Given the description of an element on the screen output the (x, y) to click on. 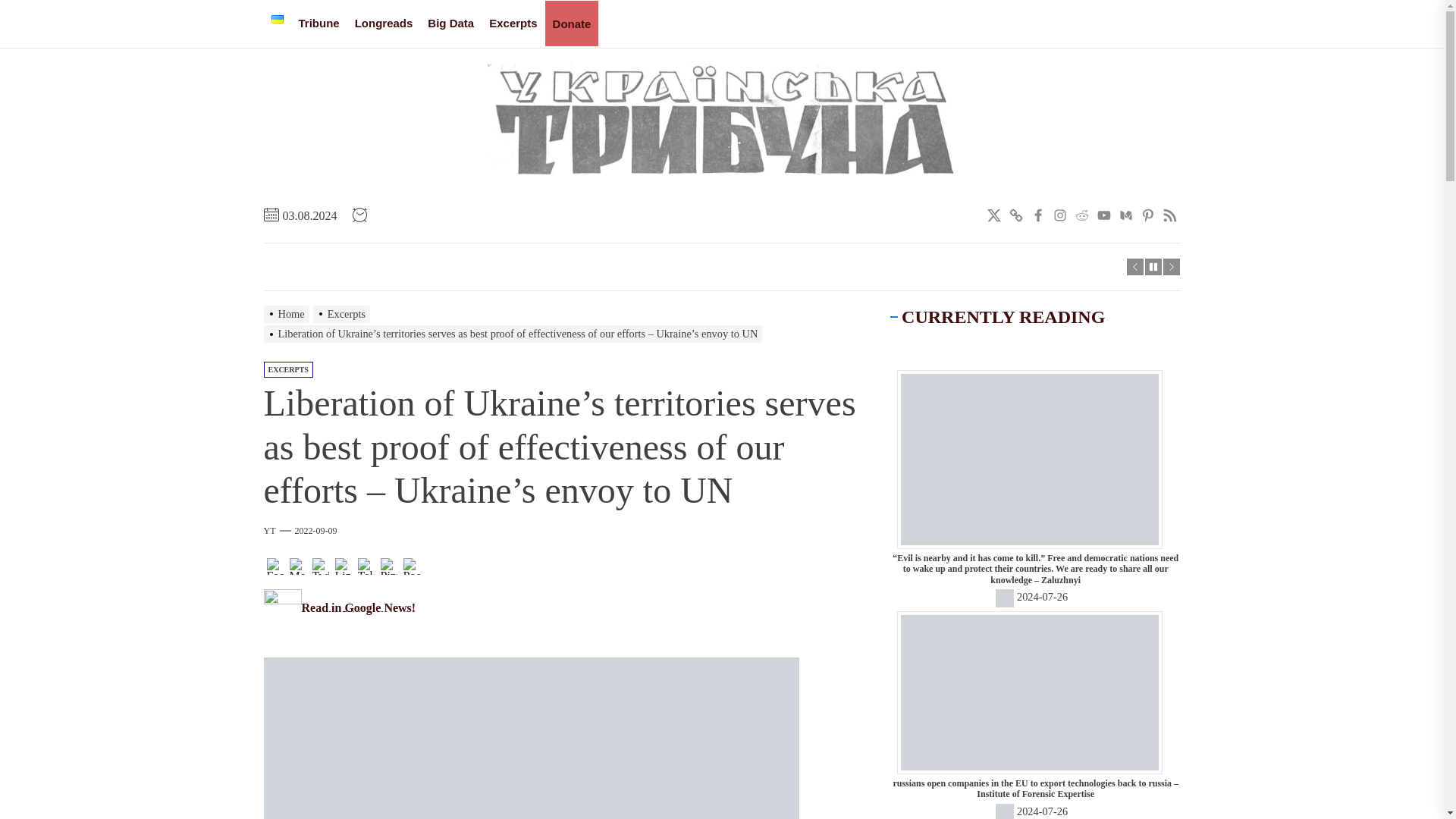
Donate (571, 24)
Tribune (319, 23)
Big Data (450, 23)
Excerpts (512, 23)
bsky (1016, 216)
Longreads (383, 23)
twitter (994, 216)
facebook (1037, 216)
instagram (1059, 216)
